Given the description of an element on the screen output the (x, y) to click on. 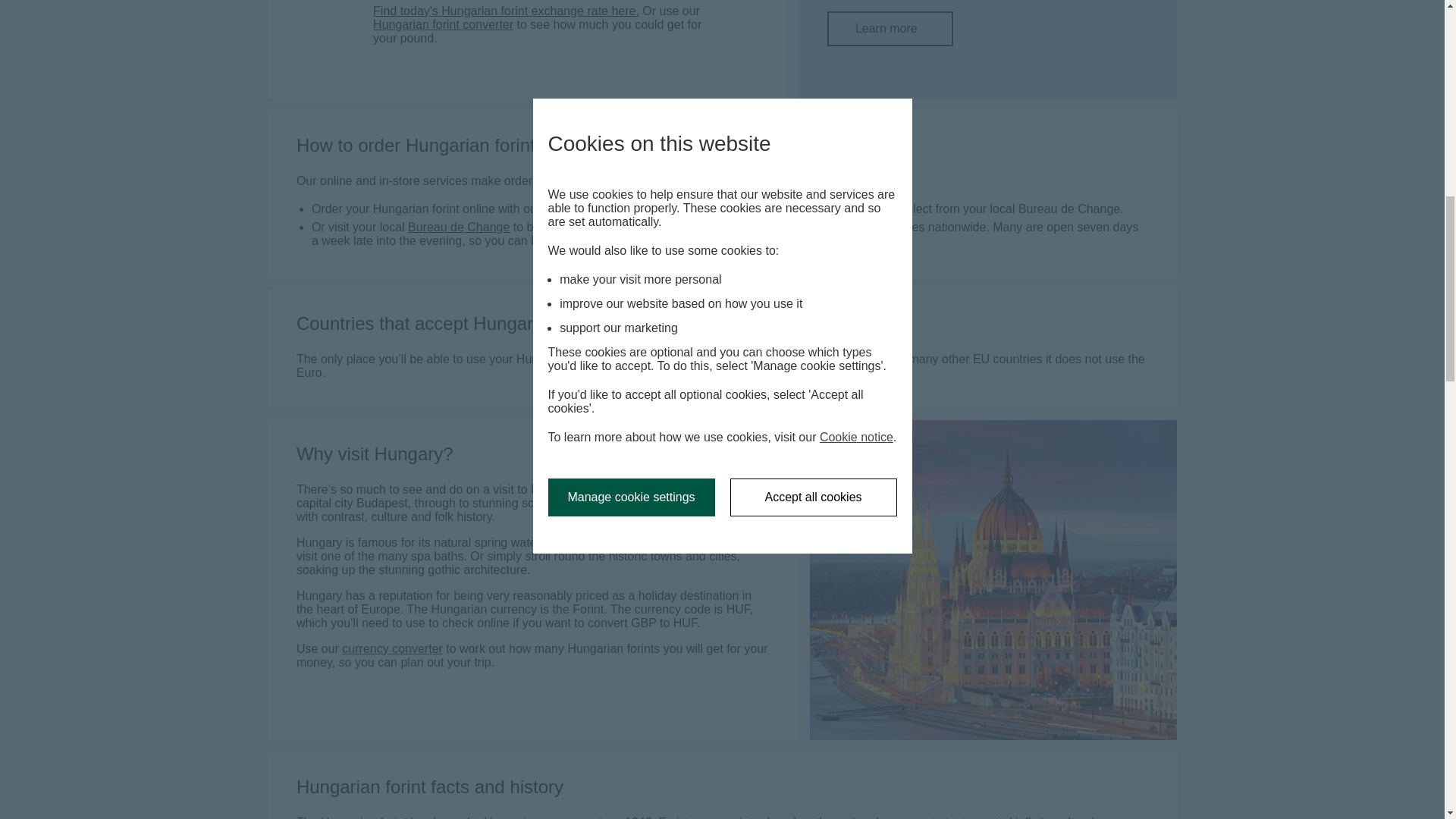
currency converter (392, 648)
Bureau de Change (890, 28)
Find today's Hungarian forint exchange rate here. (458, 226)
Hungarian forint converter (505, 10)
